Given the description of an element on the screen output the (x, y) to click on. 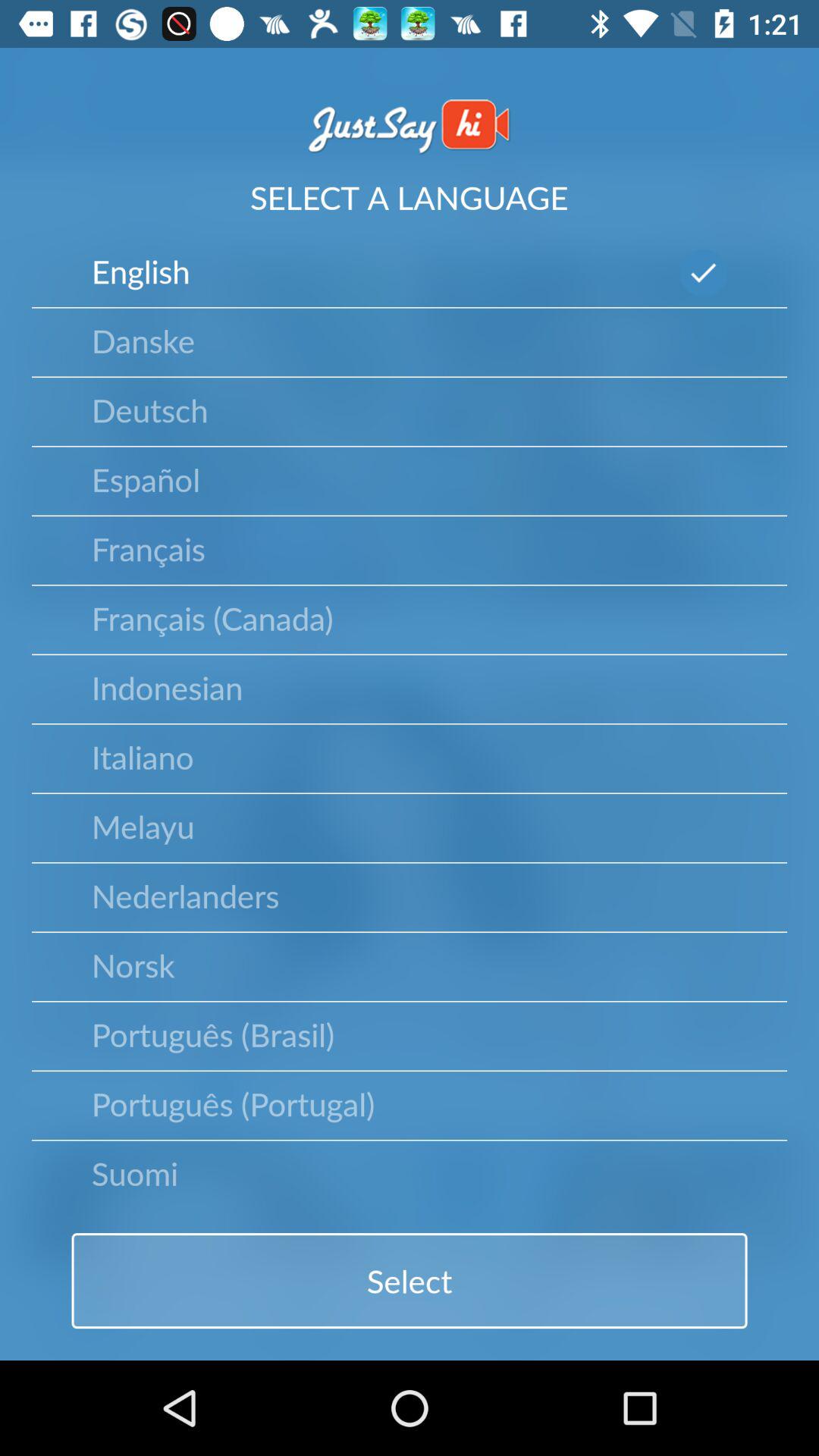
turn on item above melayu (142, 756)
